Given the description of an element on the screen output the (x, y) to click on. 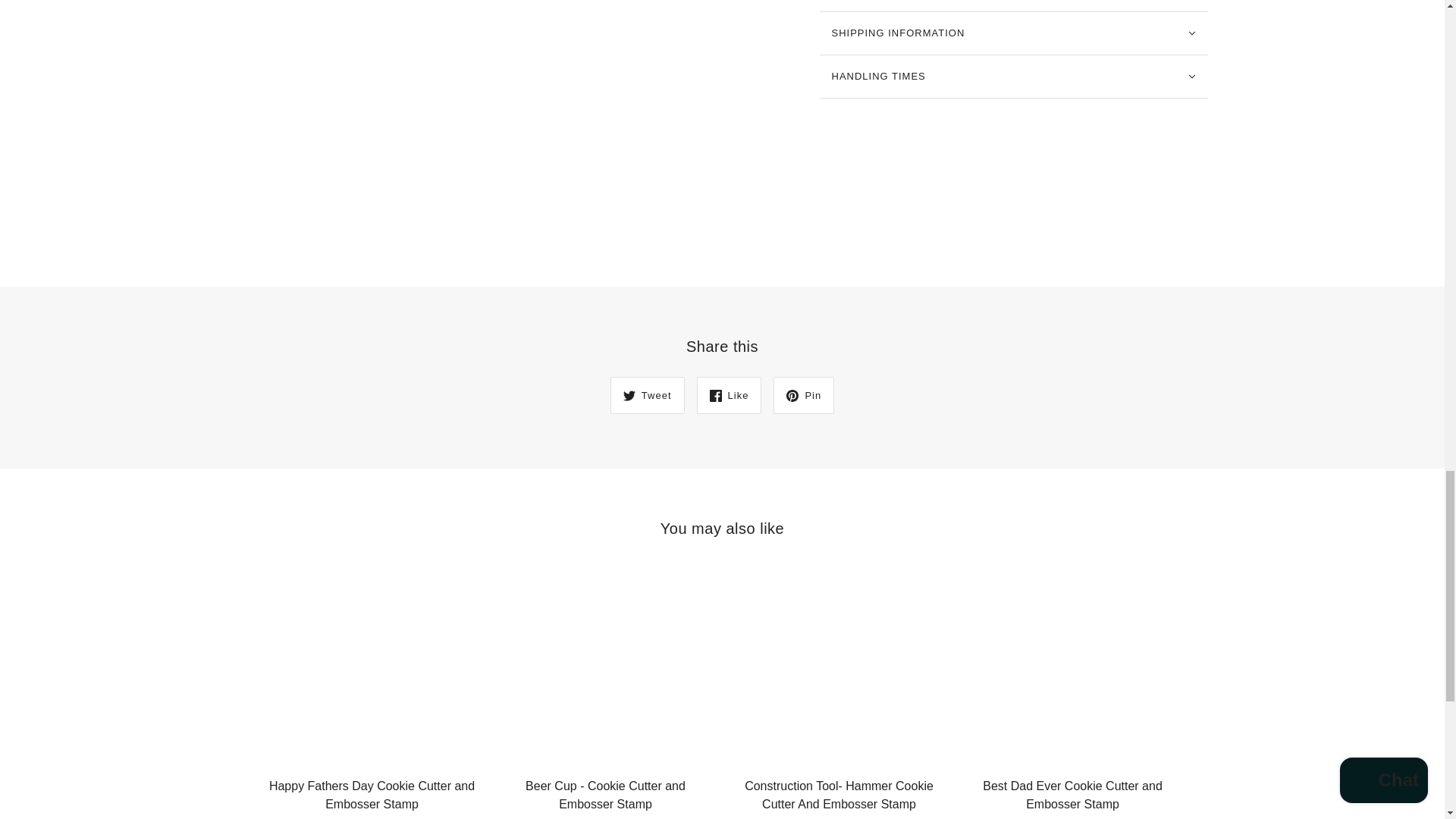
Tweet (647, 395)
Like (729, 395)
Pin (803, 395)
